Given the description of an element on the screen output the (x, y) to click on. 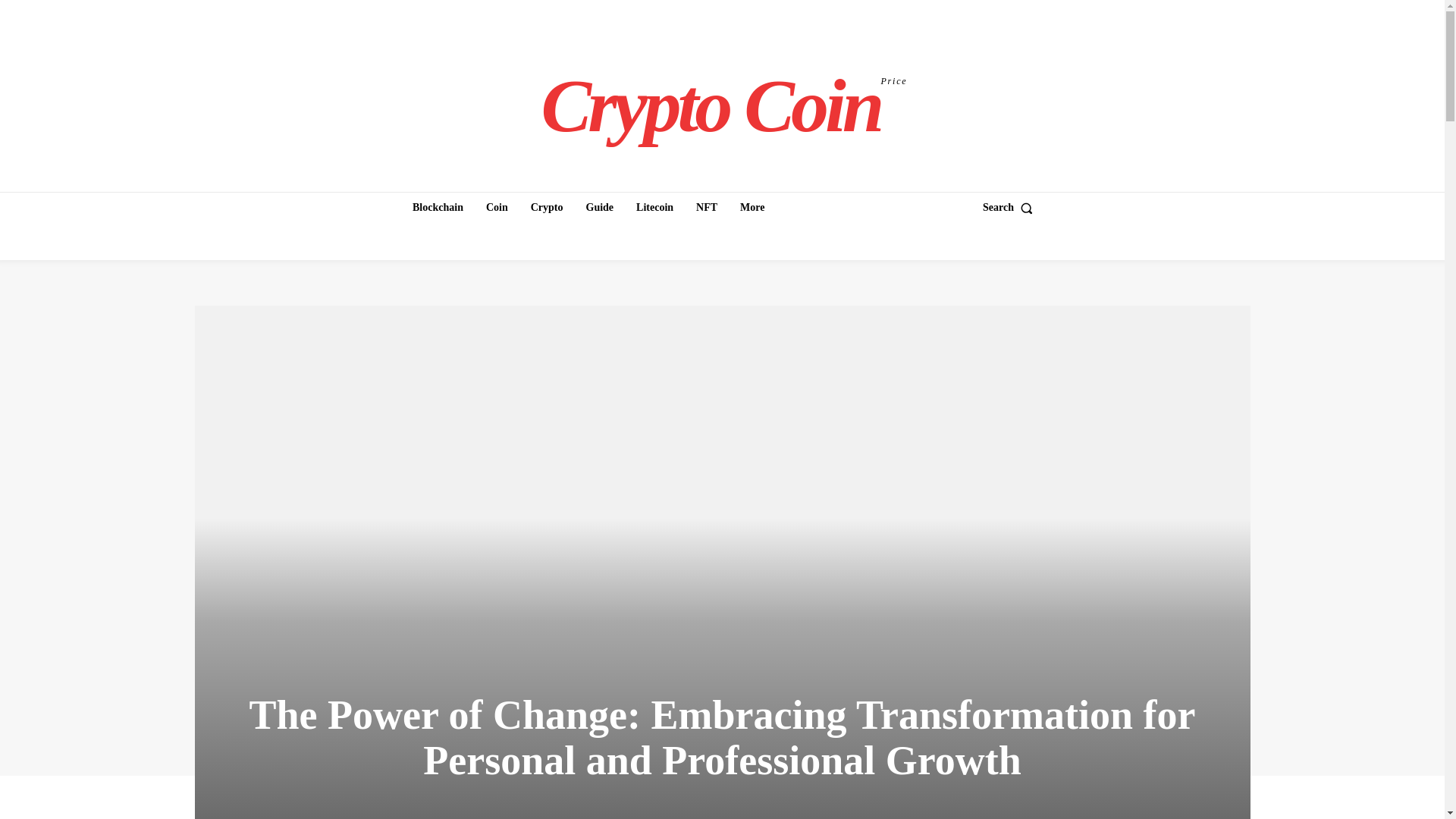
Coin (497, 207)
Guide (599, 207)
More (751, 207)
Search (1010, 207)
NFT (706, 207)
Litecoin (654, 207)
Crypto (546, 207)
Blockchain (724, 105)
